Given the description of an element on the screen output the (x, y) to click on. 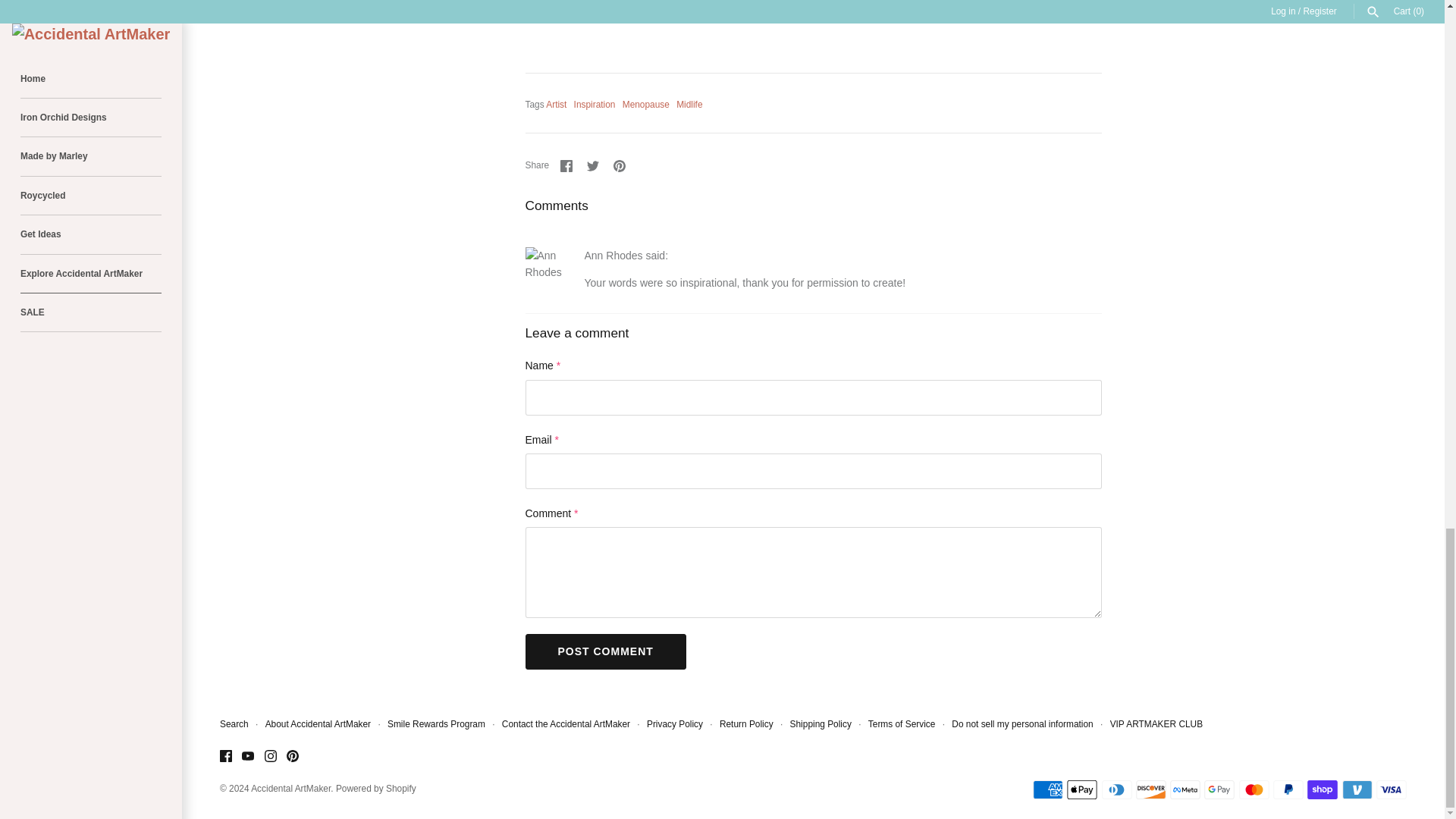
Twitter (592, 165)
Google Pay (1219, 789)
Show articles tagged Inspiration (594, 104)
Show articles tagged Artist (556, 104)
Show articles tagged Midlife (689, 104)
Mastercard (1254, 789)
Apple Pay (1082, 789)
Pinterest (619, 165)
Meta Pay (1184, 789)
PayPal (1287, 789)
